Given the description of an element on the screen output the (x, y) to click on. 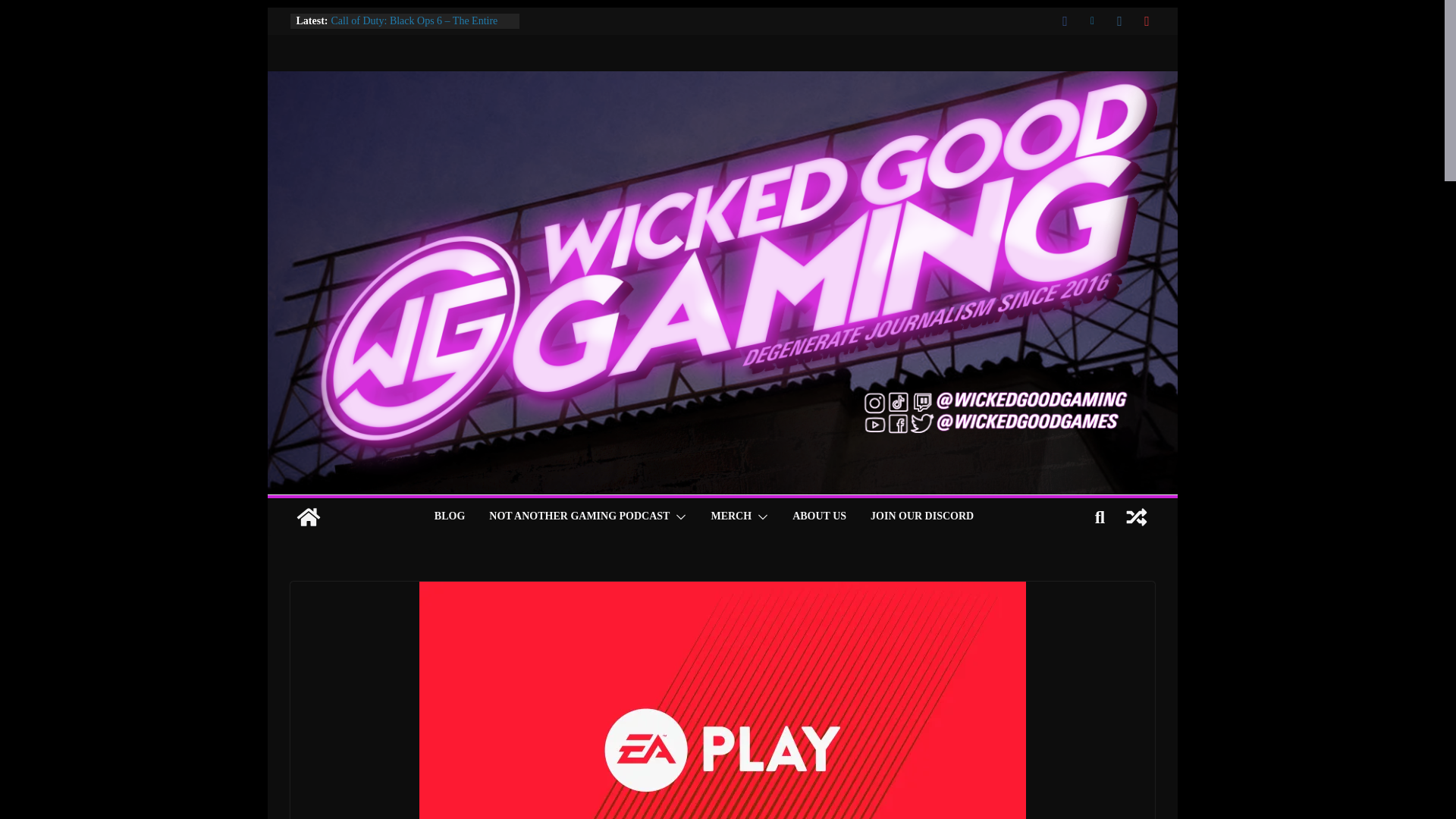
JOIN OUR DISCORD (922, 517)
Wicked Good Gaming (721, 81)
View a random post (1136, 516)
BLOG (448, 517)
MERCH (730, 517)
NOT ANOTHER GAMING PODCAST (579, 517)
ABOUT US (818, 517)
Wicked Good Gaming (307, 516)
